Given the description of an element on the screen output the (x, y) to click on. 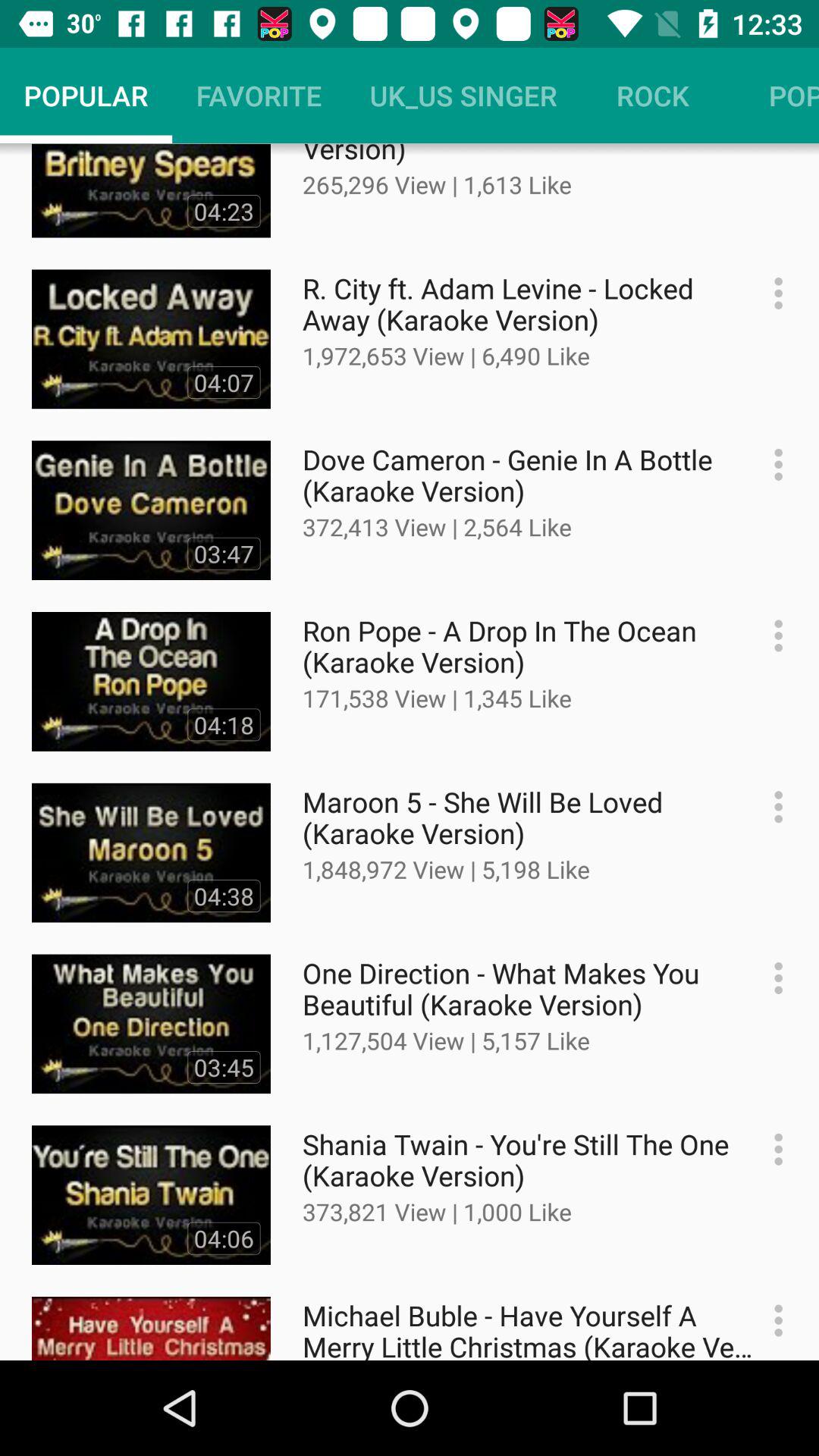
more options (770, 1320)
